Given the description of an element on the screen output the (x, y) to click on. 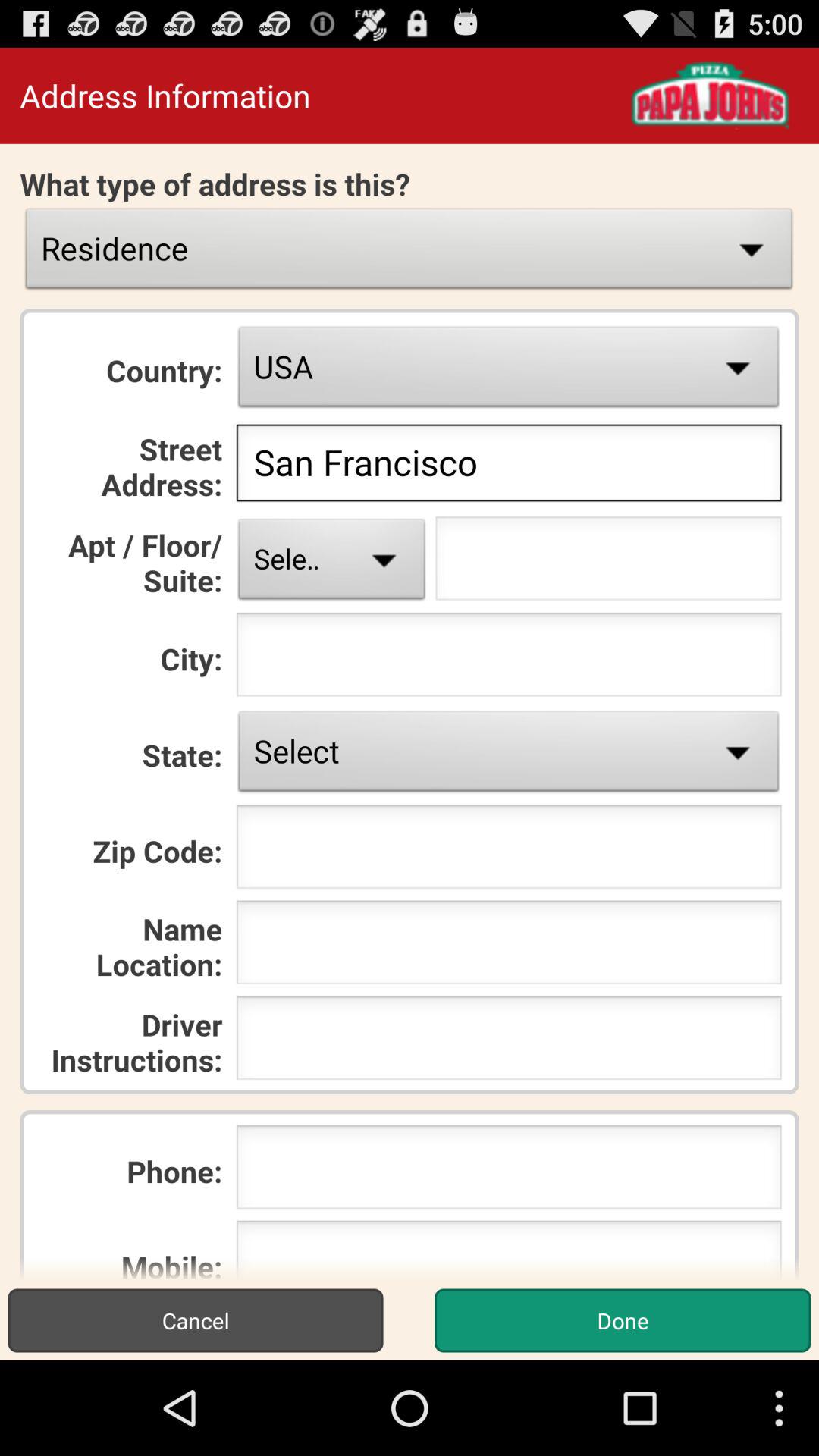
put the phone number (508, 1171)
